Given the description of an element on the screen output the (x, y) to click on. 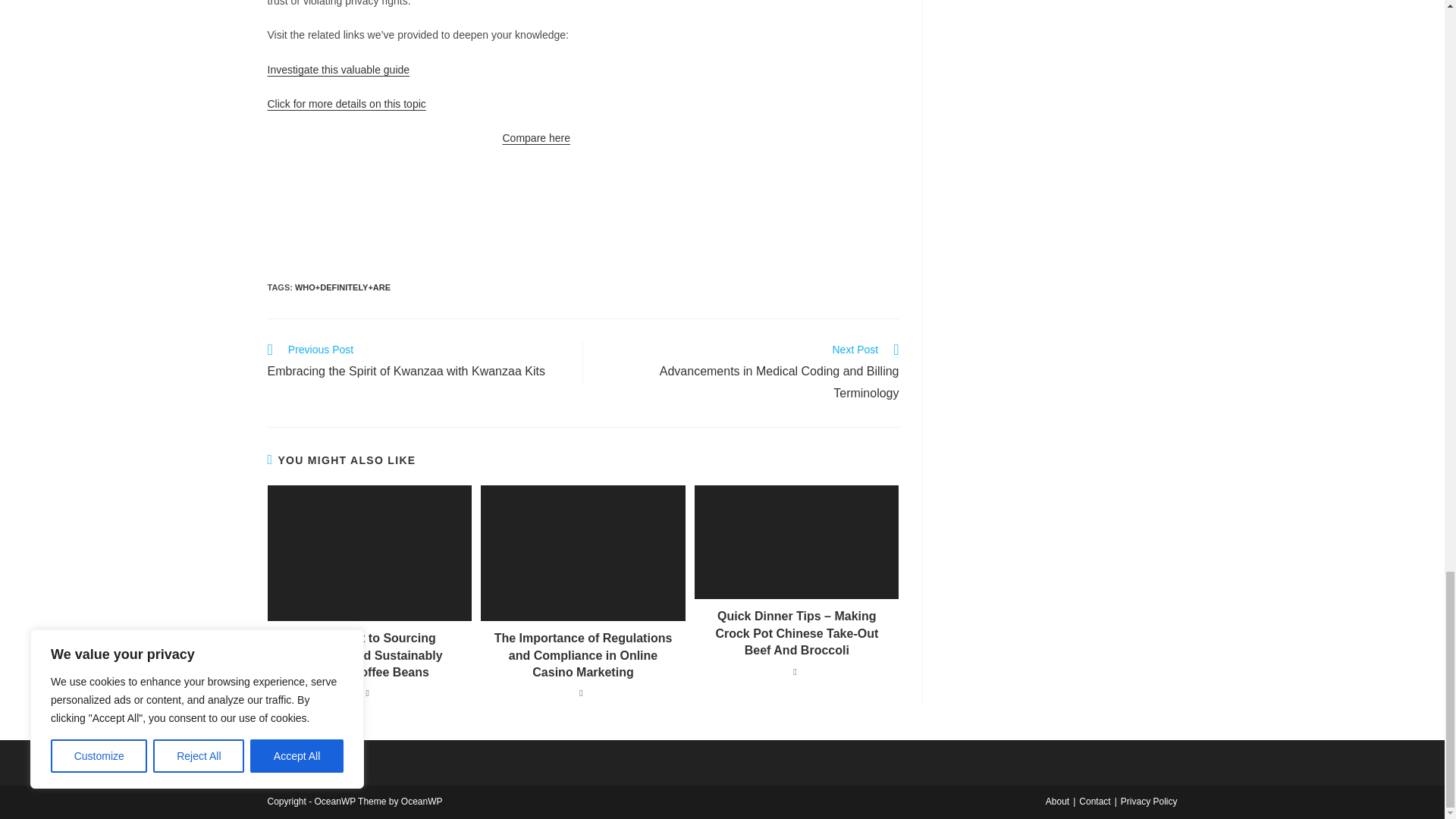
Compare here (536, 137)
Investigate this valuable guide (337, 69)
Click for more details on this topic (345, 103)
